Given the description of an element on the screen output the (x, y) to click on. 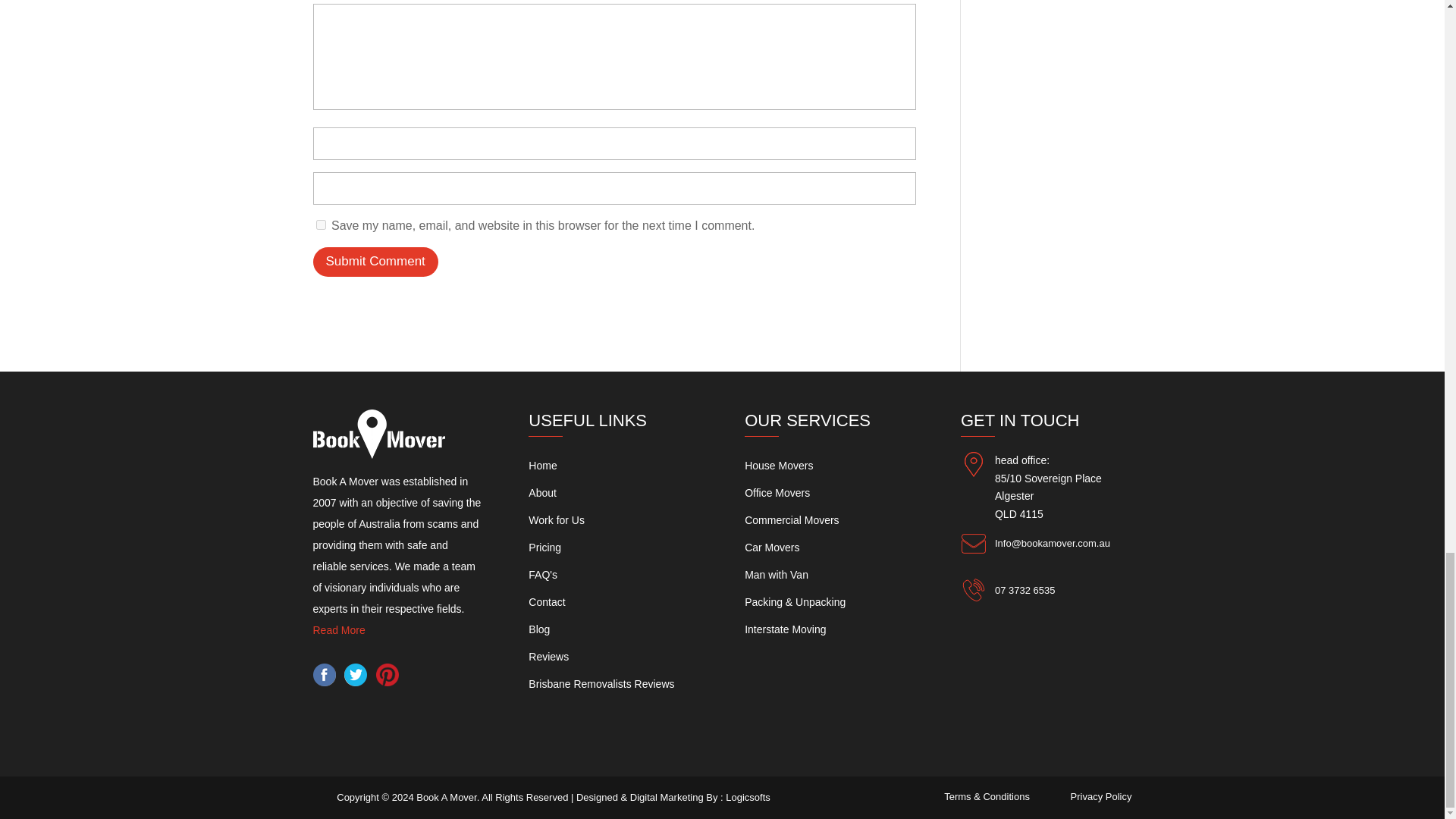
Home (542, 465)
Read More (339, 630)
pinterest (386, 682)
Work for Us (556, 520)
yes (319, 225)
About (542, 492)
Submit Comment (375, 261)
Submit Comment (375, 261)
